Given the description of an element on the screen output the (x, y) to click on. 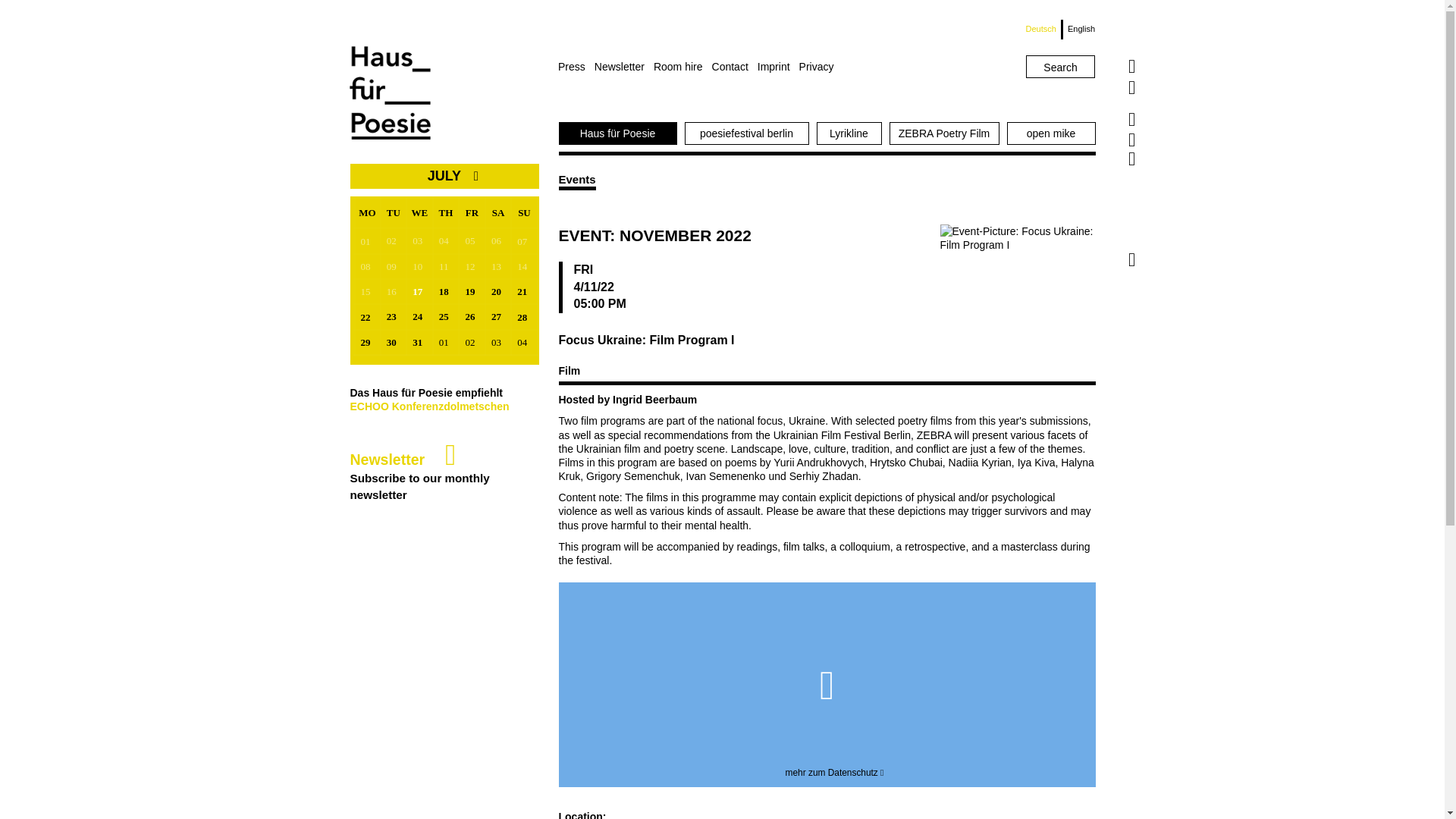
English (1078, 29)
Privacy (821, 66)
Search (1060, 66)
Contact (734, 66)
Press (575, 66)
Imprint (778, 66)
01 (366, 241)
Newsletter (623, 66)
Room hire (682, 66)
Deutsch (1044, 29)
